Given the description of an element on the screen output the (x, y) to click on. 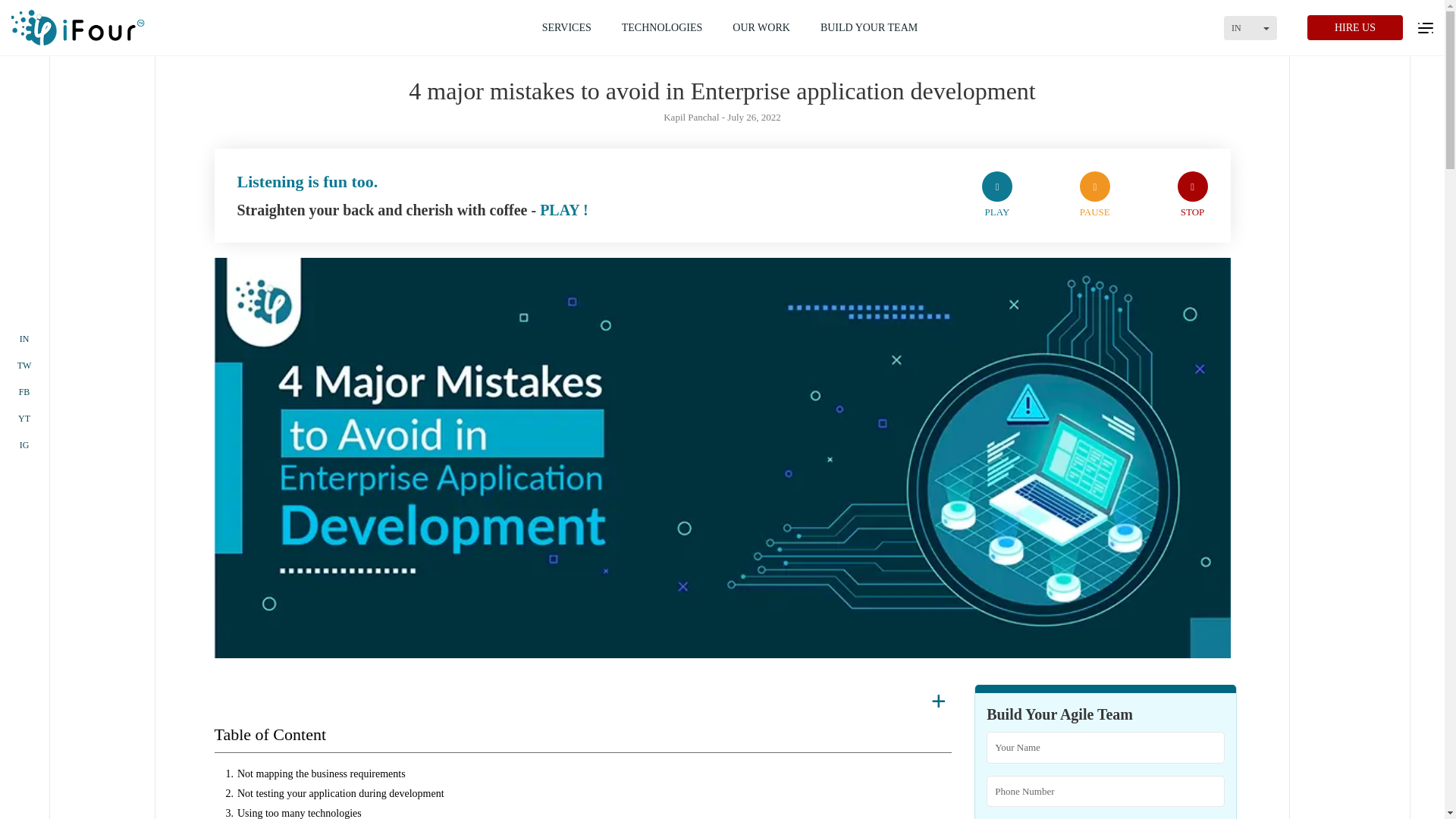
Services (567, 27)
Technologies (662, 27)
